Given the description of an element on the screen output the (x, y) to click on. 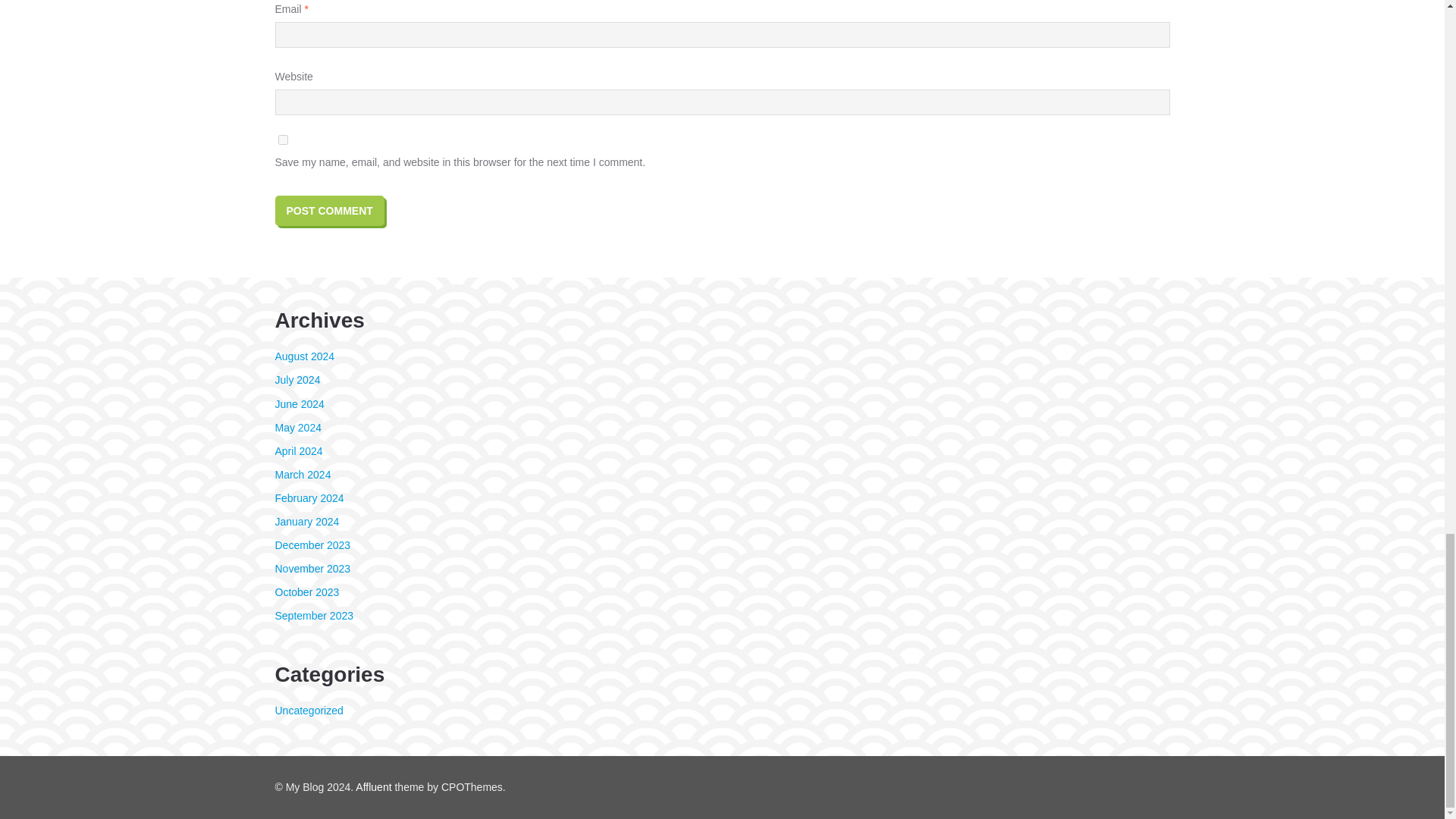
March 2024 (302, 474)
Post Comment (329, 210)
February 2024 (309, 498)
January 2024 (307, 521)
Post Comment (329, 210)
April 2024 (298, 451)
Affluent (373, 787)
July 2024 (297, 379)
September 2023 (314, 615)
Uncategorized (308, 710)
yes (282, 139)
August 2024 (304, 356)
June 2024 (299, 404)
December 2023 (312, 544)
November 2023 (312, 568)
